Given the description of an element on the screen output the (x, y) to click on. 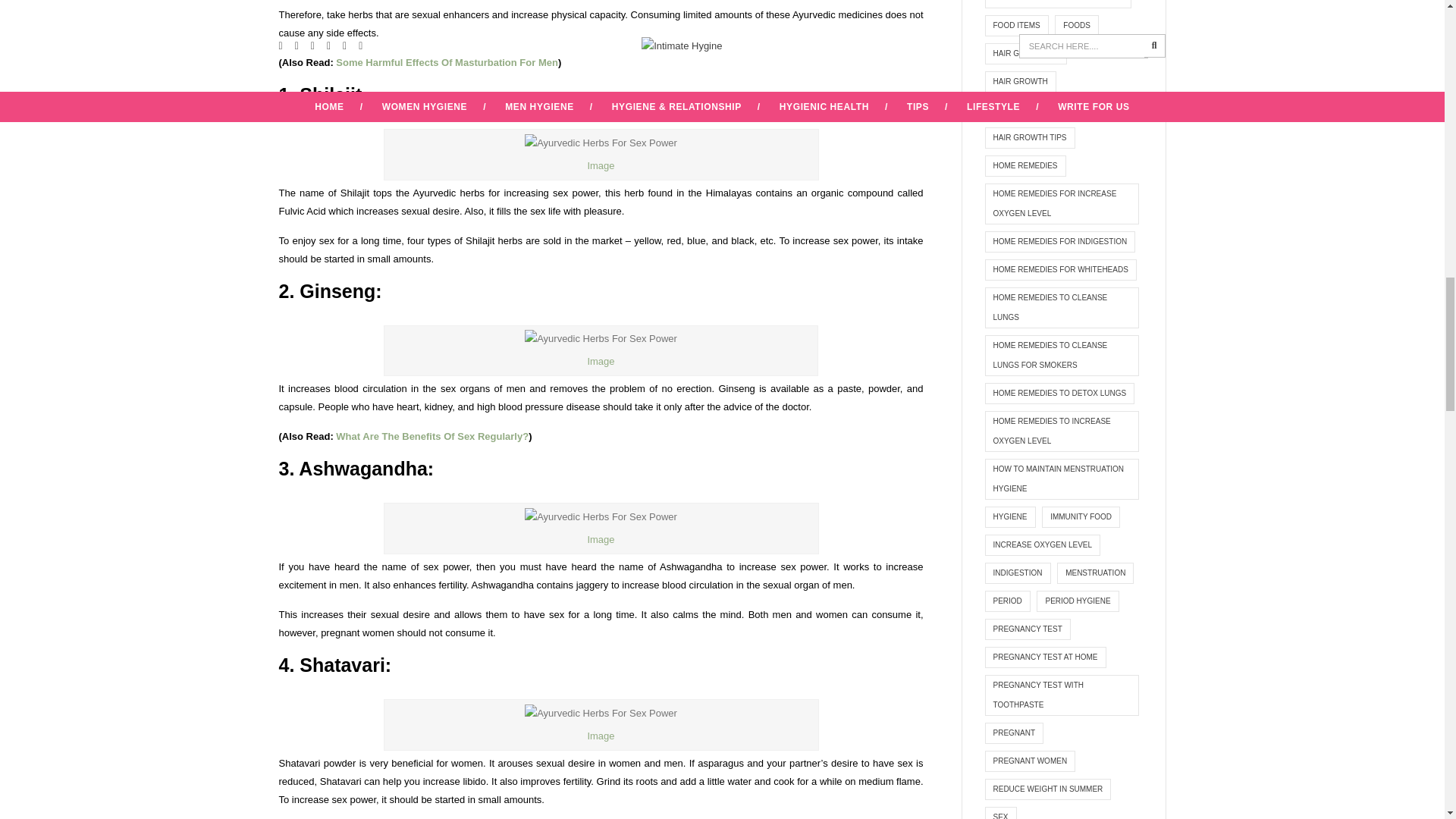
Image (600, 165)
Some Harmful Effects Of Masturbation For Men (446, 61)
What Are The Benefits Of Sex Regularly? (432, 436)
Image (600, 360)
